Given the description of an element on the screen output the (x, y) to click on. 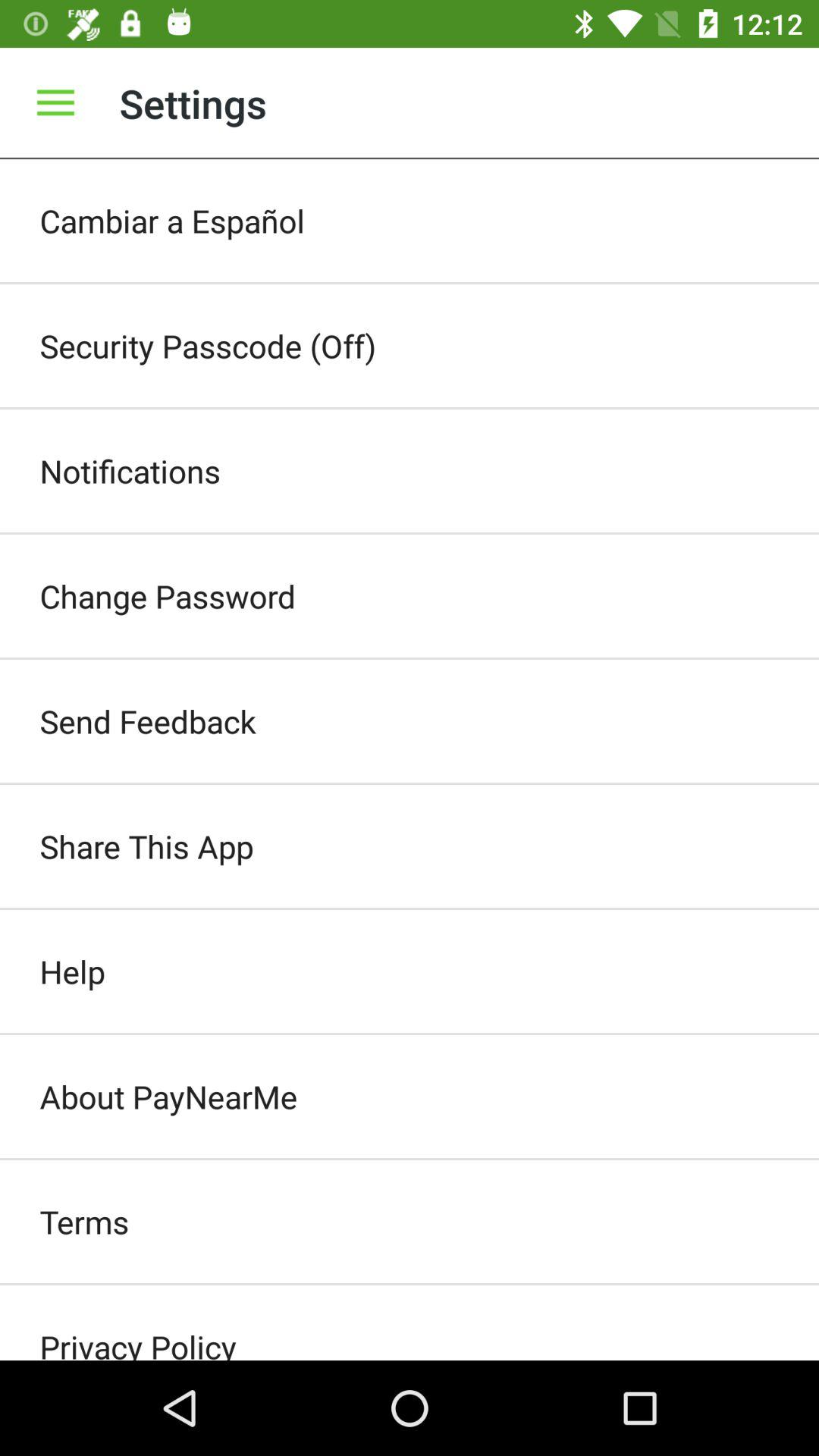
flip to security passcode (off) icon (409, 345)
